Given the description of an element on the screen output the (x, y) to click on. 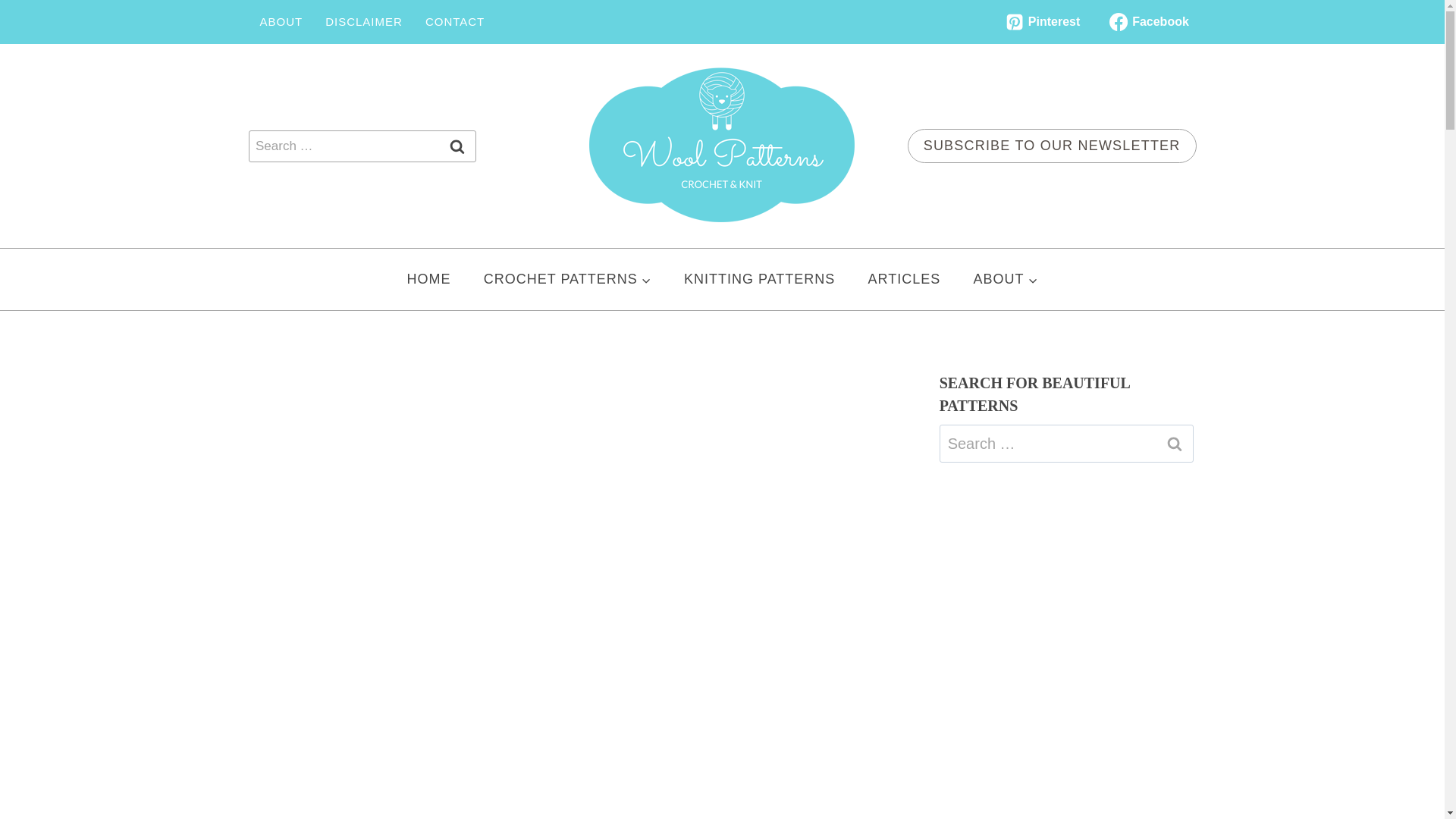
ARTICLES (903, 279)
Search (457, 146)
SUBSCRIBE TO OUR NEWSLETTER (1051, 145)
DISCLAIMER (363, 21)
Facebook (1148, 22)
CROCHET PATTERNS (566, 279)
Pinterest (1042, 22)
CONTACT (454, 21)
Search (457, 146)
HOME (428, 279)
Search (457, 146)
Search (1174, 443)
ABOUT (281, 21)
ABOUT (1005, 279)
KNITTING PATTERNS (758, 279)
